Given the description of an element on the screen output the (x, y) to click on. 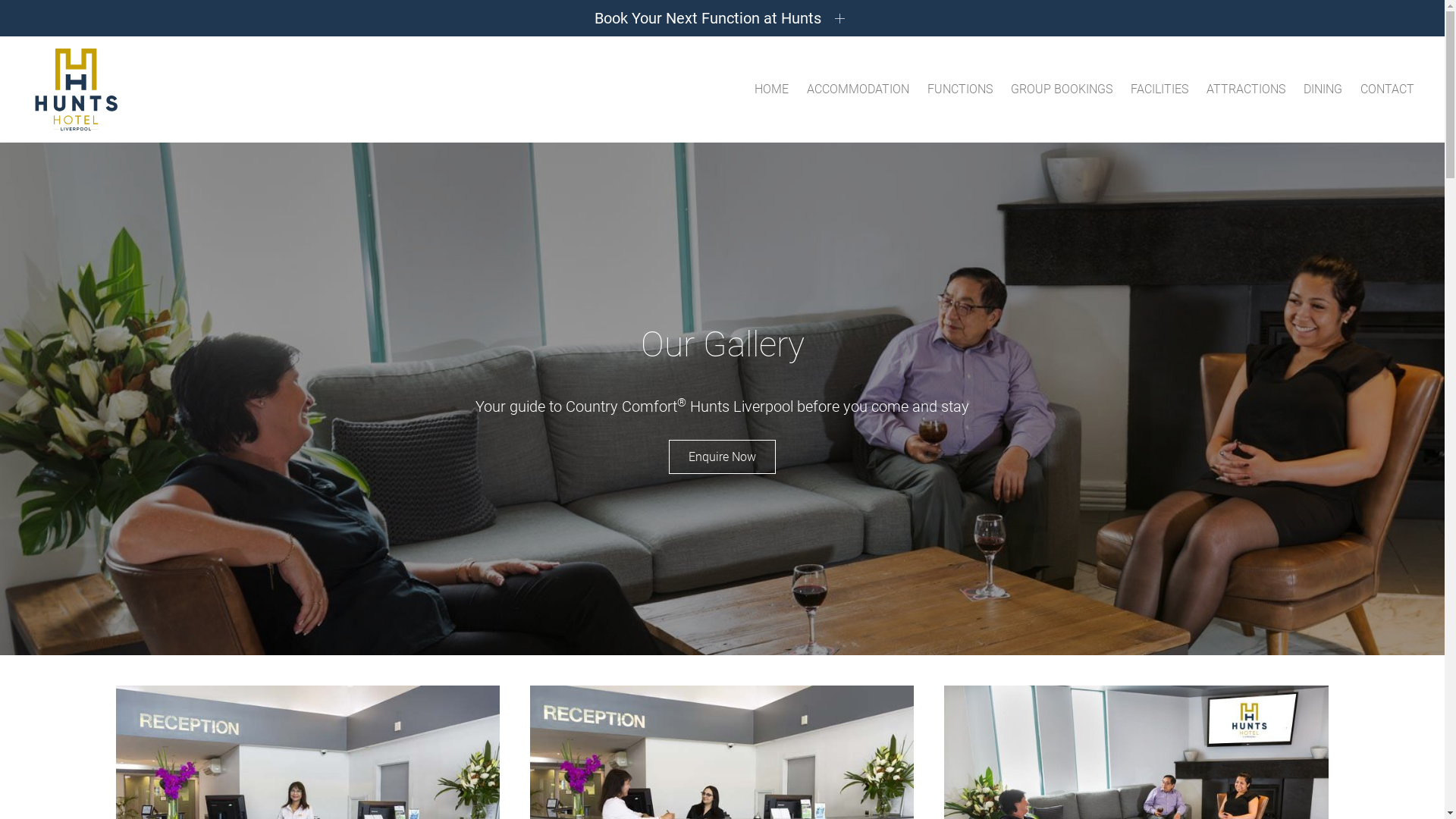
ATTRACTIONS Element type: text (1245, 89)
HOME Element type: text (771, 89)
DINING Element type: text (1322, 89)
Enquire Now Element type: text (721, 456)
FACILITIES Element type: text (1159, 89)
CONTACT Element type: text (1387, 89)
ACCOMMODATION Element type: text (857, 89)
Book Your Next Function at Hunts Element type: text (722, 17)
GROUP BOOKINGS Element type: text (1061, 89)
FUNCTIONS Element type: text (959, 89)
